Given the description of an element on the screen output the (x, y) to click on. 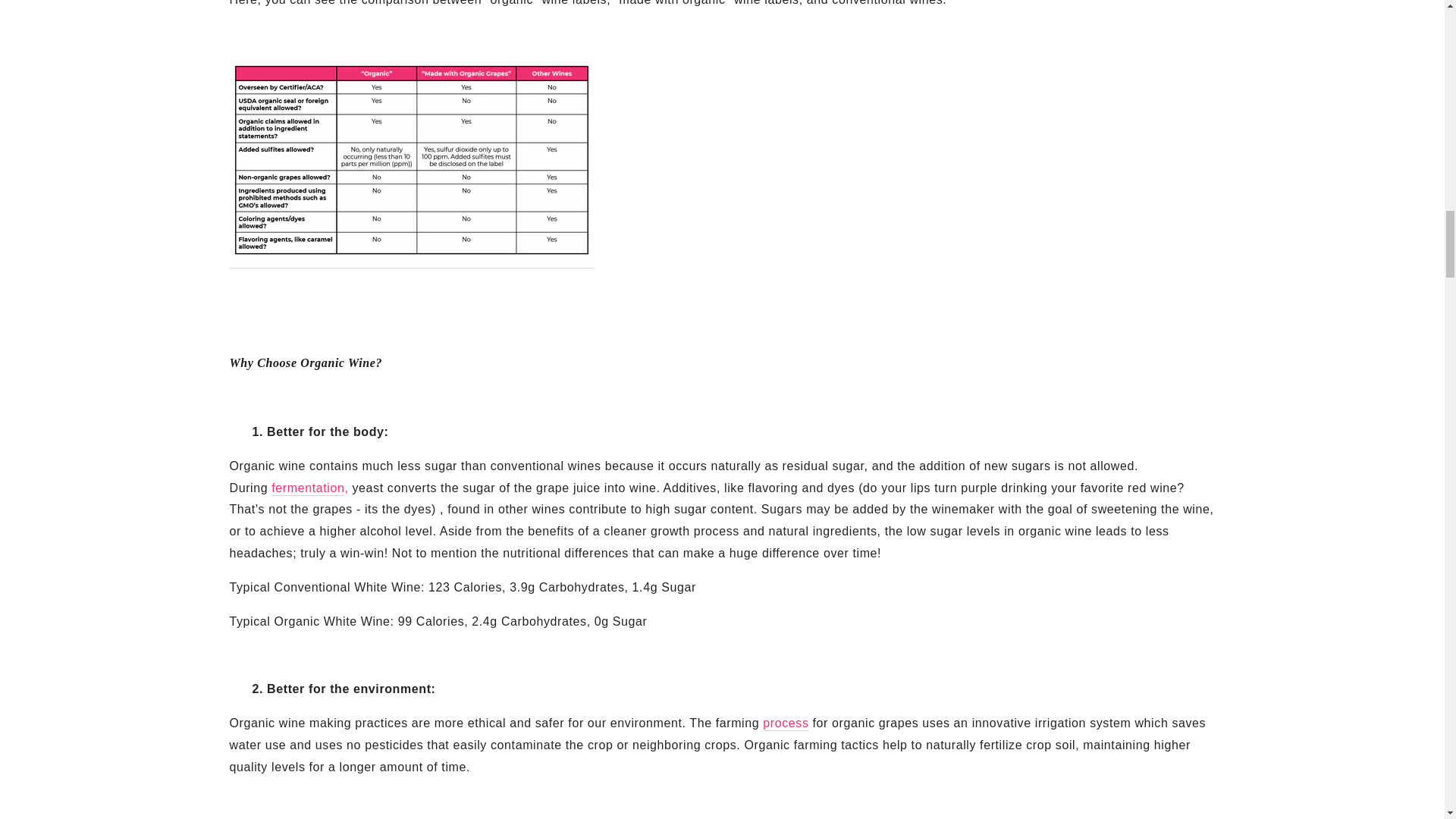
USDA: Labeling Organic Wine (410, 260)
About Low Sugar Wine (306, 488)
Why You Should Be Drinking Organic Wine (785, 723)
